Given the description of an element on the screen output the (x, y) to click on. 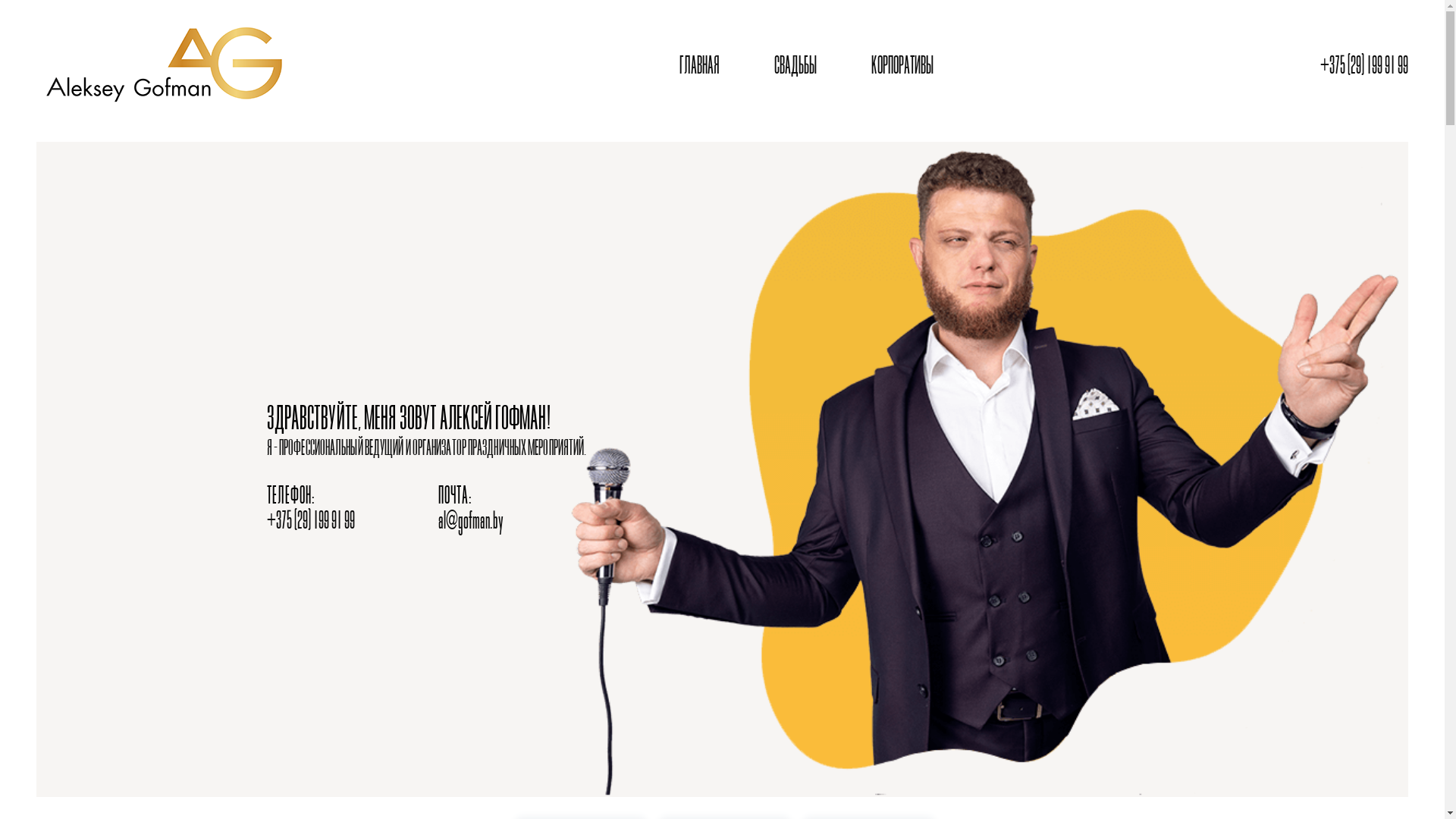
+375 (29) 199 91 99 Element type: text (310, 521)
al@gofman.by Element type: text (470, 521)
+375 (29) 199 91 99 Element type: text (1364, 66)
